Given the description of an element on the screen output the (x, y) to click on. 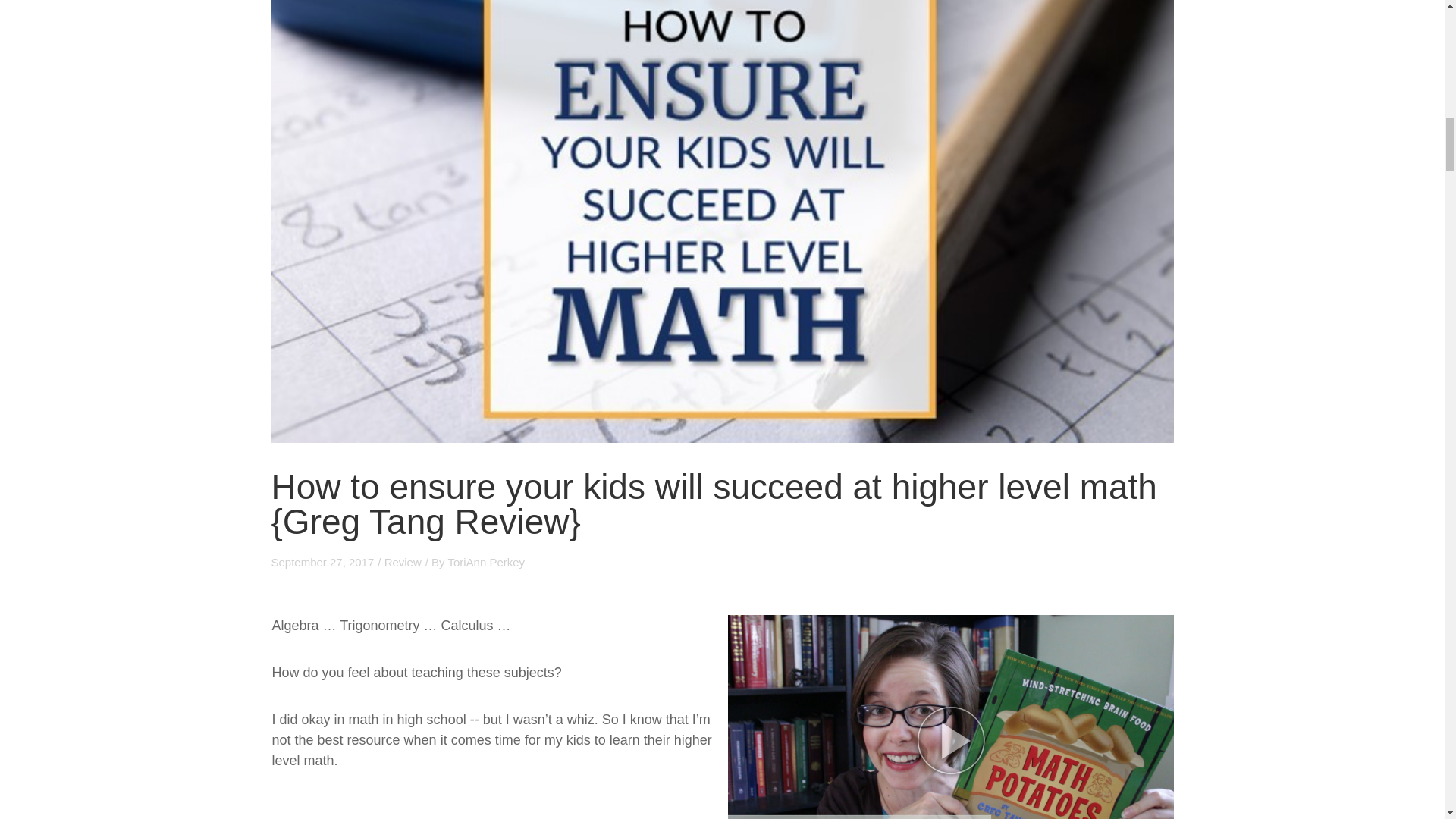
ToriAnn Perkey (485, 562)
Review (403, 562)
teach-homeschool-math-fun-greg-tang-review (950, 717)
